Given the description of an element on the screen output the (x, y) to click on. 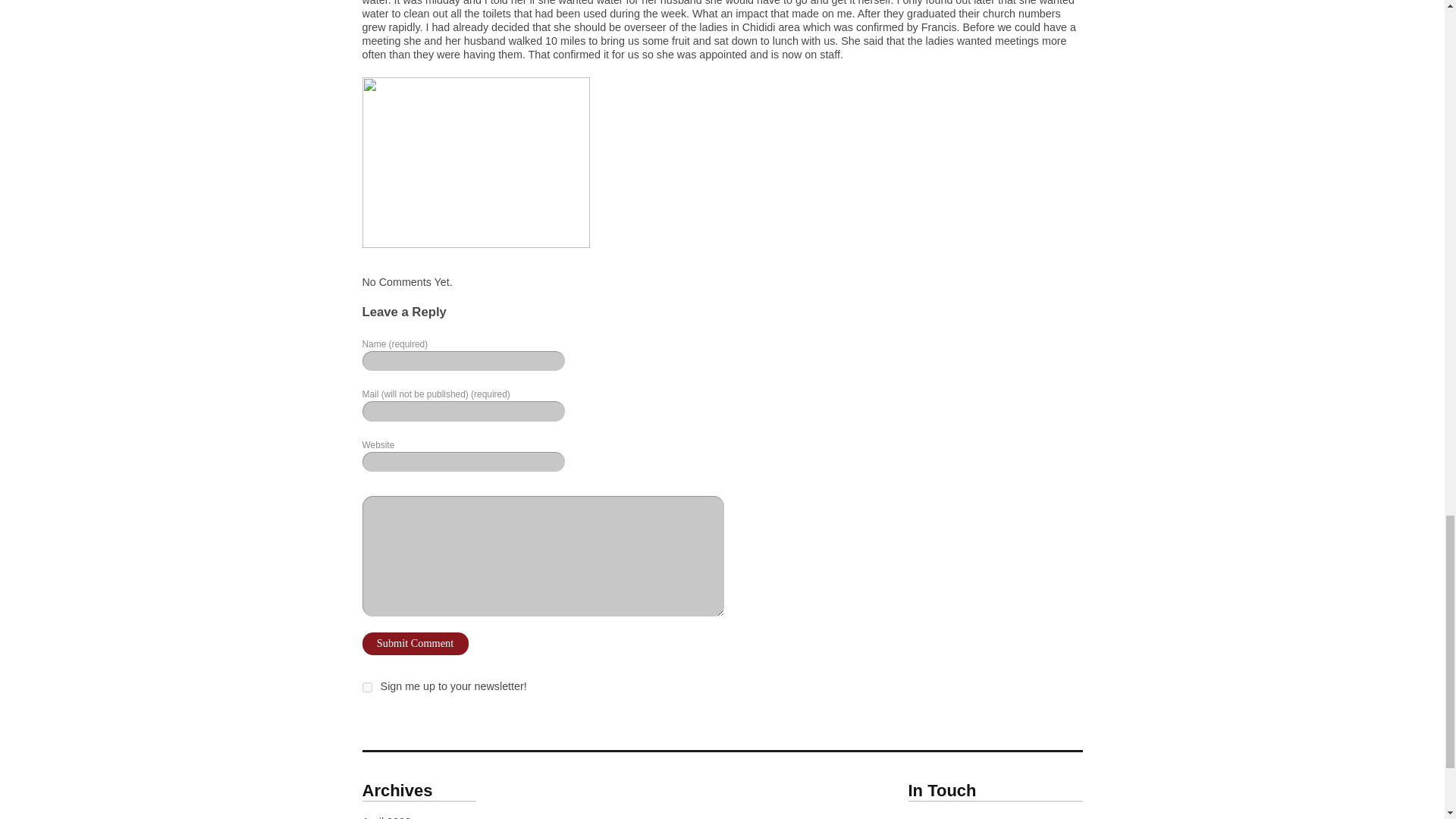
facebook (952, 818)
rss (982, 818)
twitter (921, 818)
1 (367, 687)
Submit Comment (415, 643)
April 2020 (386, 817)
Submit Comment (415, 643)
